Given the description of an element on the screen output the (x, y) to click on. 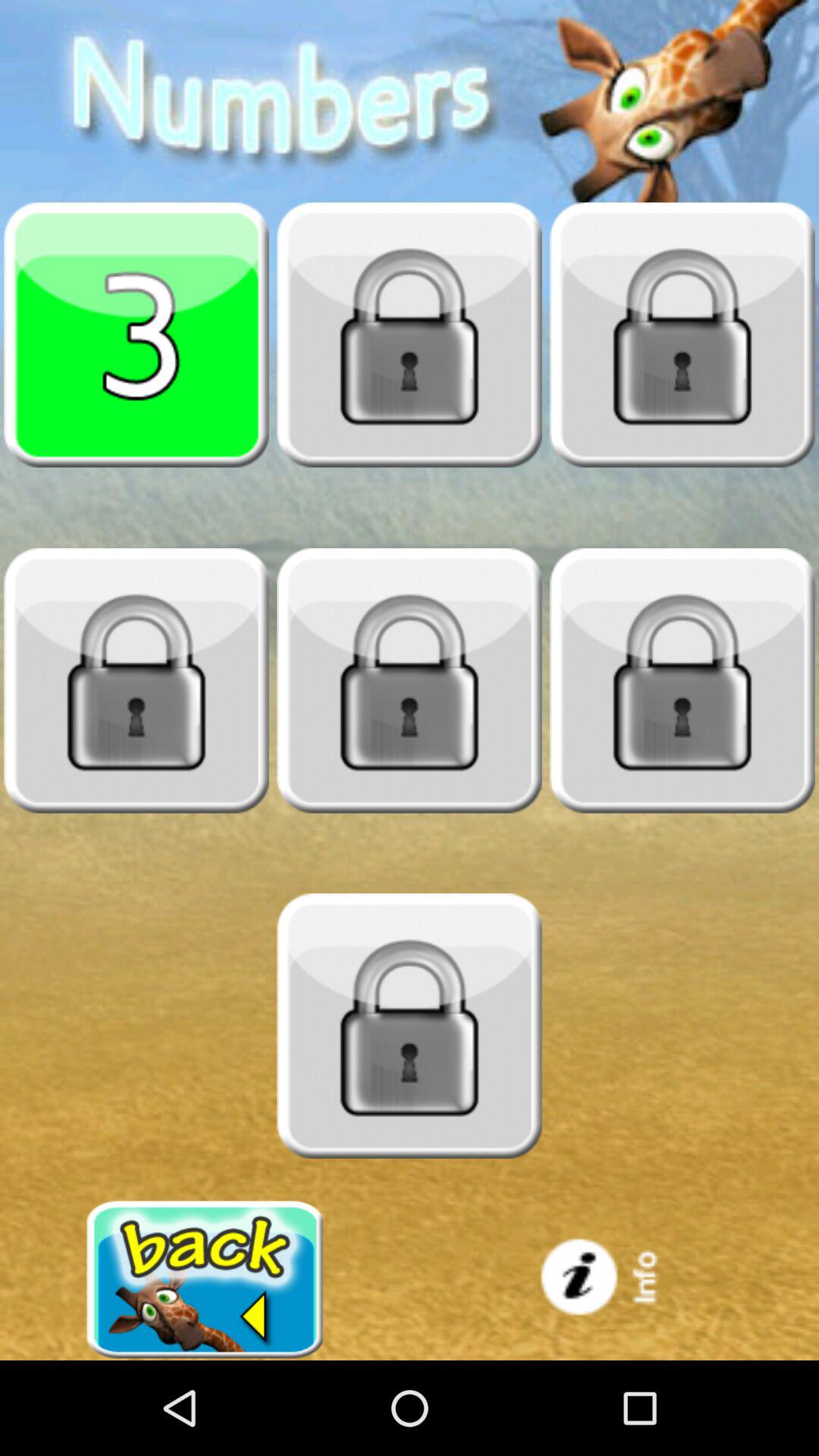
locked number (682, 334)
